Given the description of an element on the screen output the (x, y) to click on. 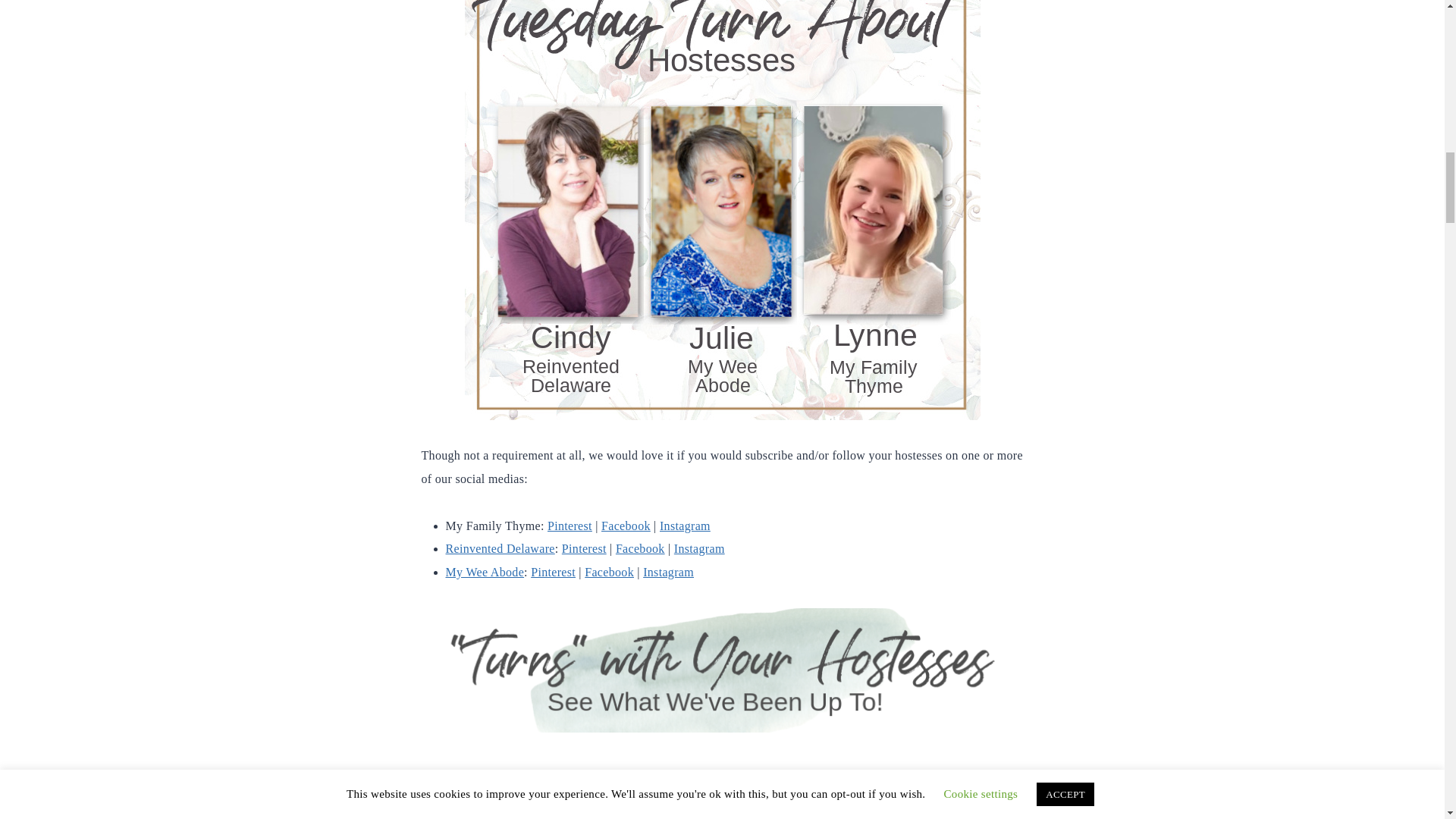
Facebook (625, 525)
Pinterest (569, 525)
My Wee Abode (484, 571)
Instagram (699, 548)
Pinterest (584, 548)
Facebook (640, 548)
Reinvented Delaware (499, 548)
Instagram (684, 525)
